Given the description of an element on the screen output the (x, y) to click on. 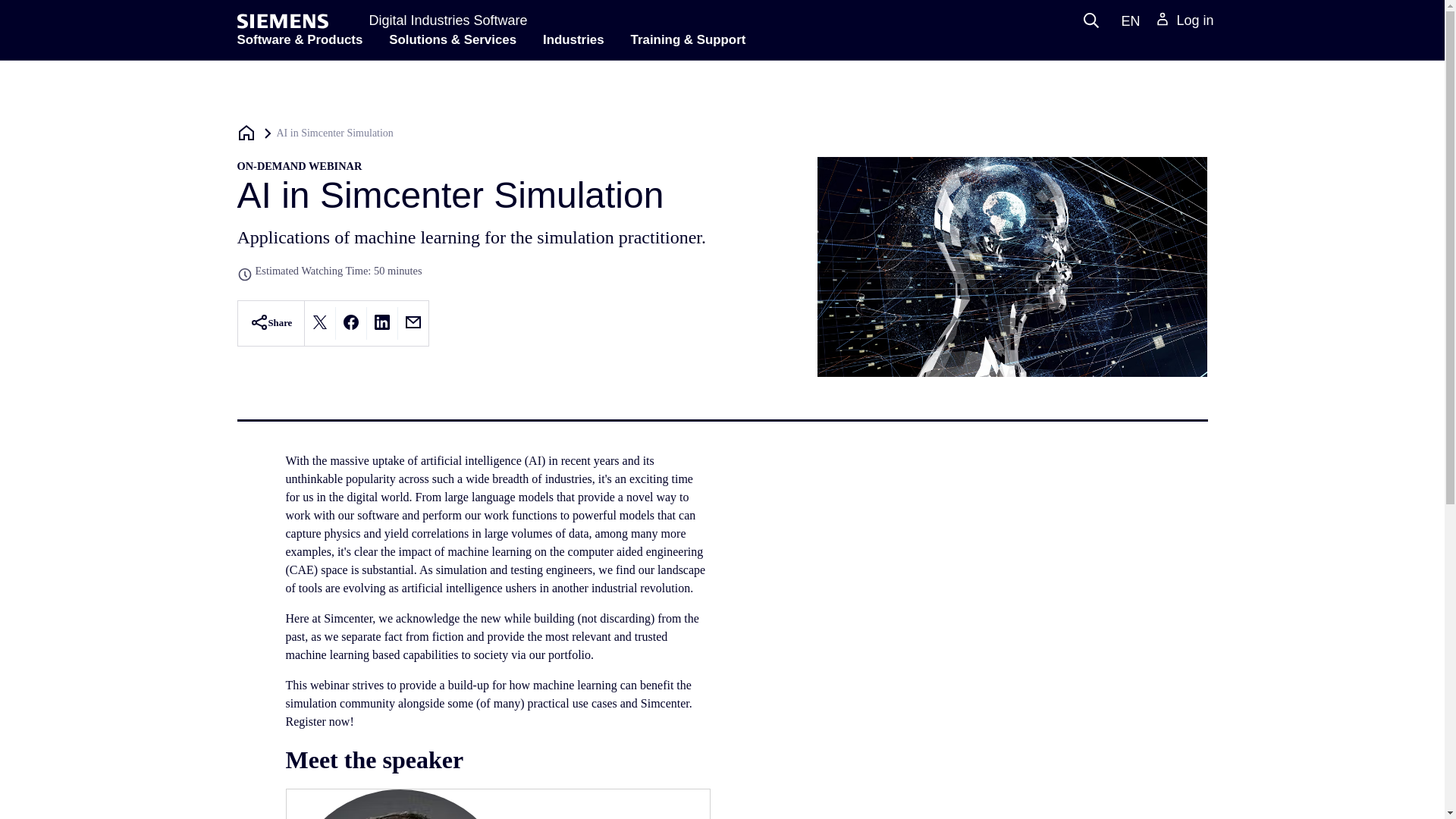
search (1091, 20)
Digital Industries Software (447, 20)
Siemens (281, 20)
